Given the description of an element on the screen output the (x, y) to click on. 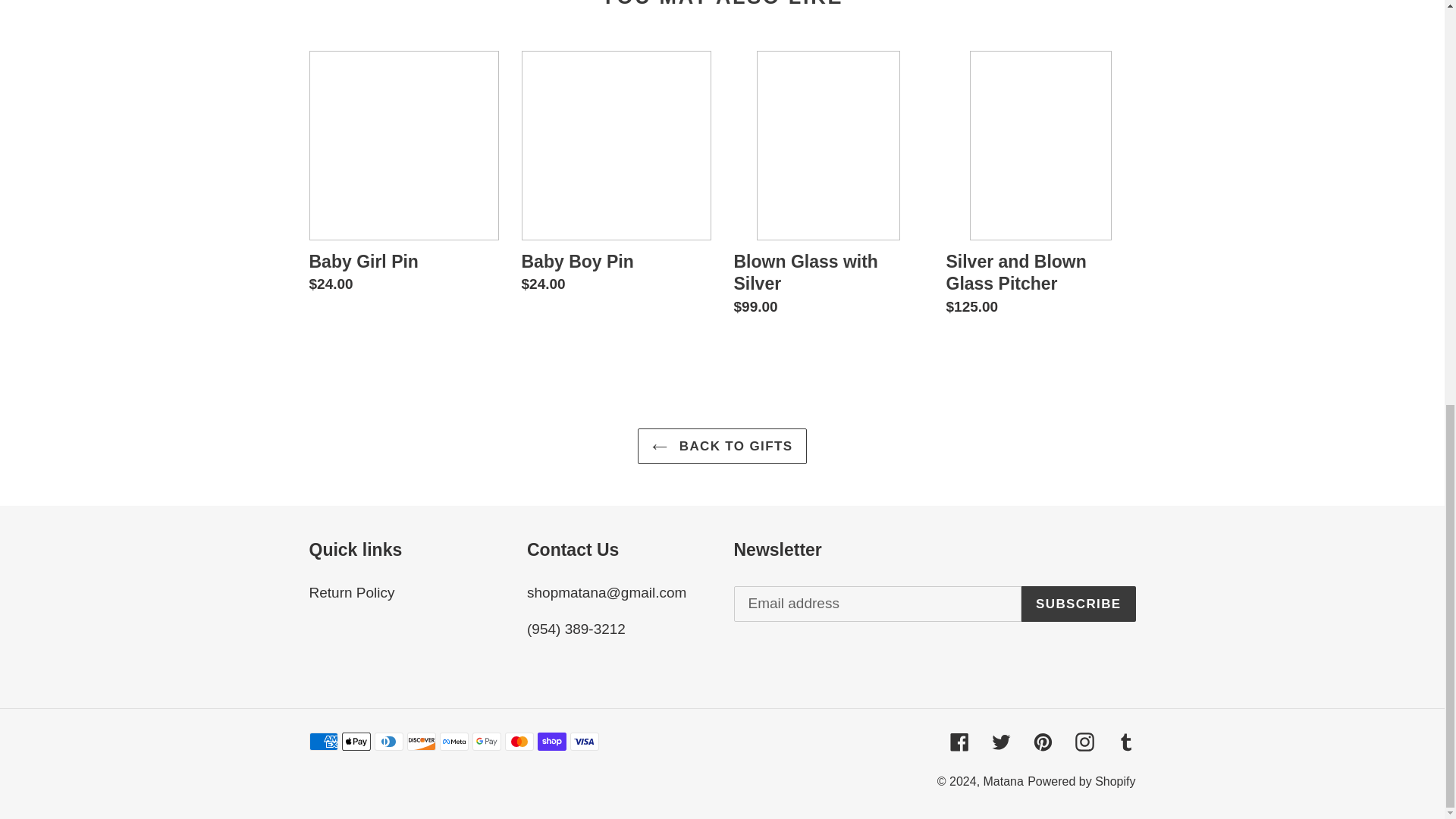
SUBSCRIBE (1078, 604)
Return Policy (351, 592)
BACK TO GIFTS (722, 446)
